Given the description of an element on the screen output the (x, y) to click on. 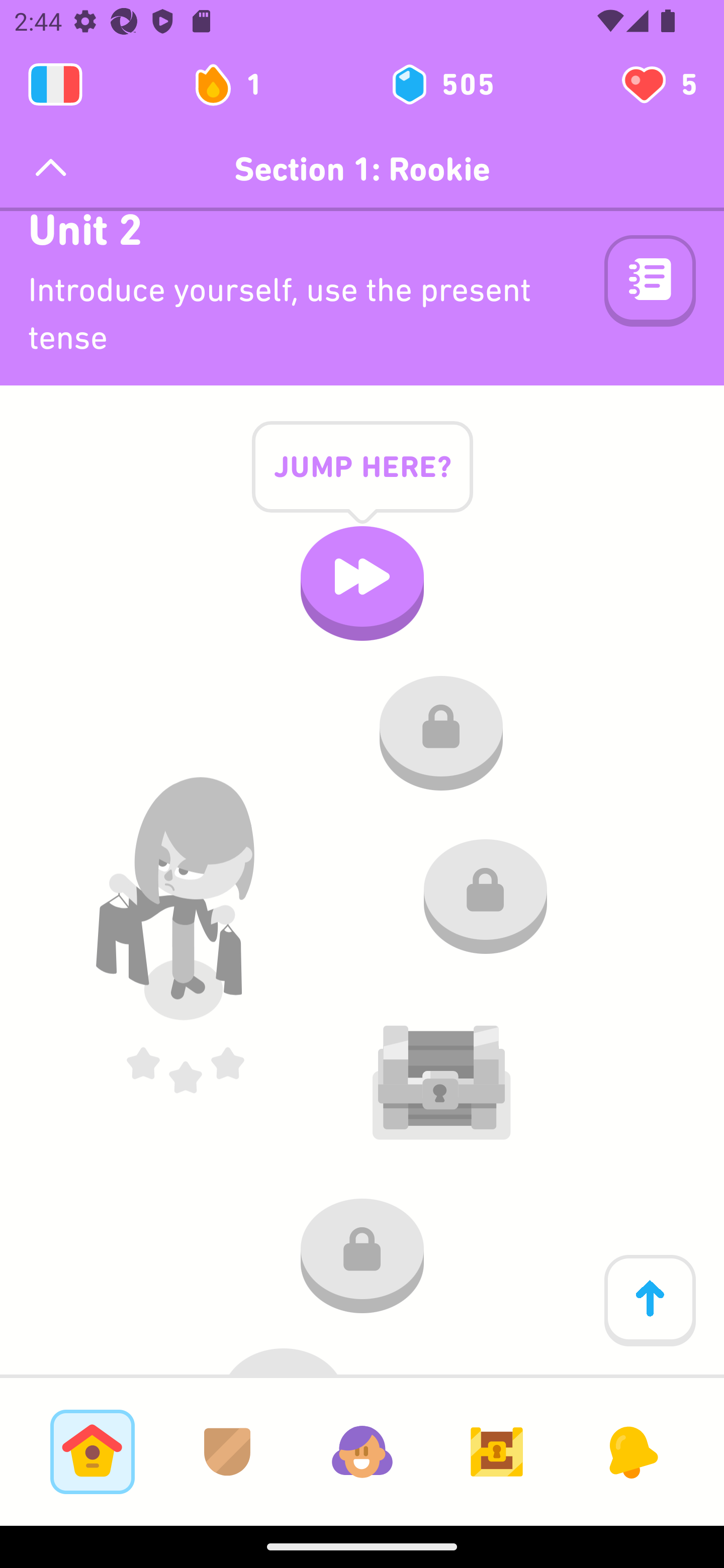
Learning 2131888976 (55, 84)
1 day streak 1 (236, 84)
505 (441, 84)
You have 5 hearts left 5 (657, 84)
Section 1: Rookie (362, 169)
JUMP HERE? (361, 481)
Learn Tab (91, 1451)
Leagues Tab (227, 1451)
Profile Tab (361, 1451)
Goals Tab (496, 1451)
News Tab (631, 1451)
